Given the description of an element on the screen output the (x, y) to click on. 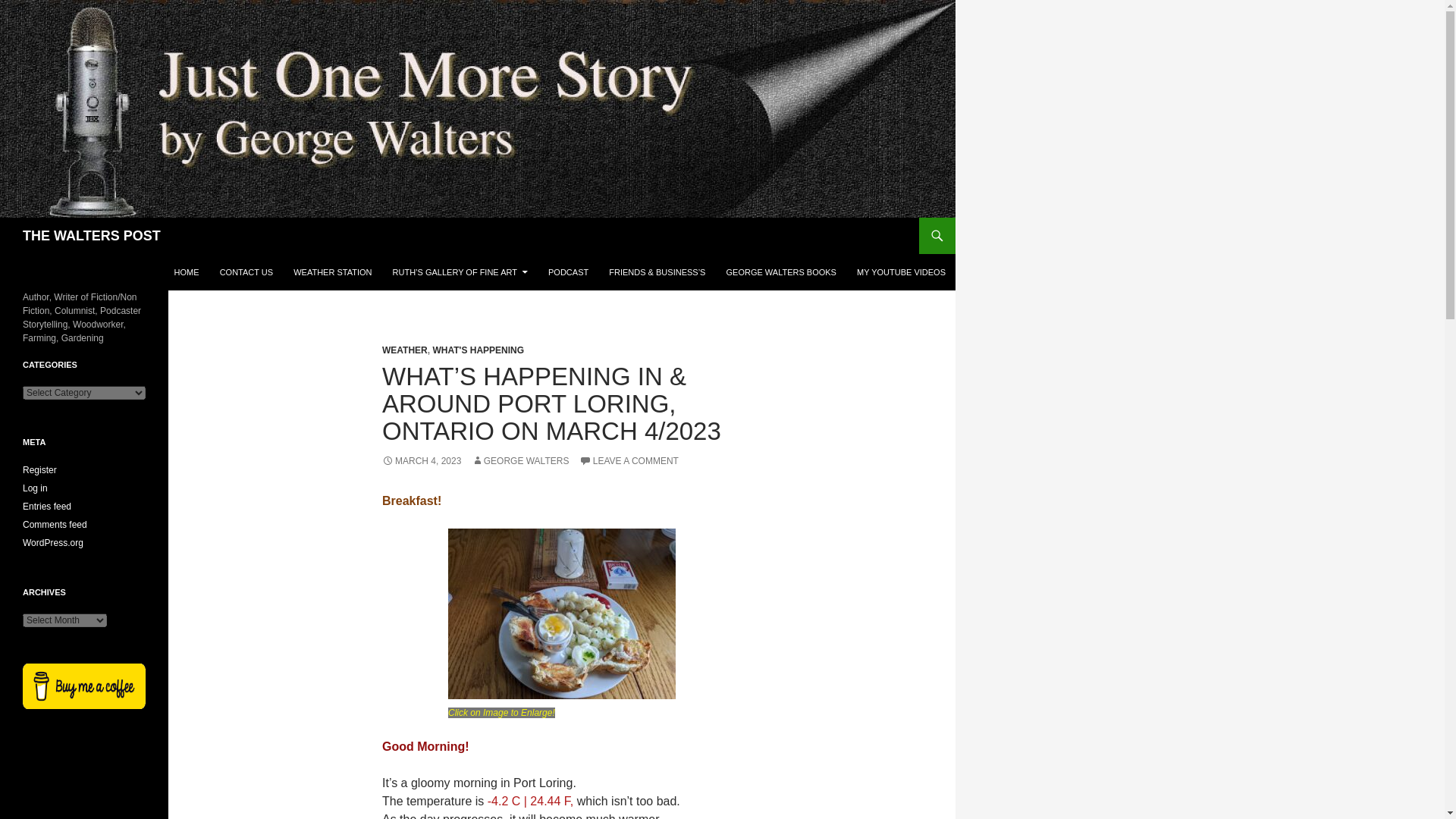
PODCAST (567, 271)
LEAVE A COMMENT (628, 460)
Log in (35, 488)
THE WALTERS POST (91, 235)
HOME (186, 271)
MARCH 4, 2023 (421, 460)
Register (39, 470)
WEATHER STATION (331, 271)
GEORGE WALTERS (520, 460)
Comments feed (55, 524)
WHAT'S HAPPENING (478, 349)
Entries feed (47, 506)
GEORGE WALTERS BOOKS (780, 271)
